Given the description of an element on the screen output the (x, y) to click on. 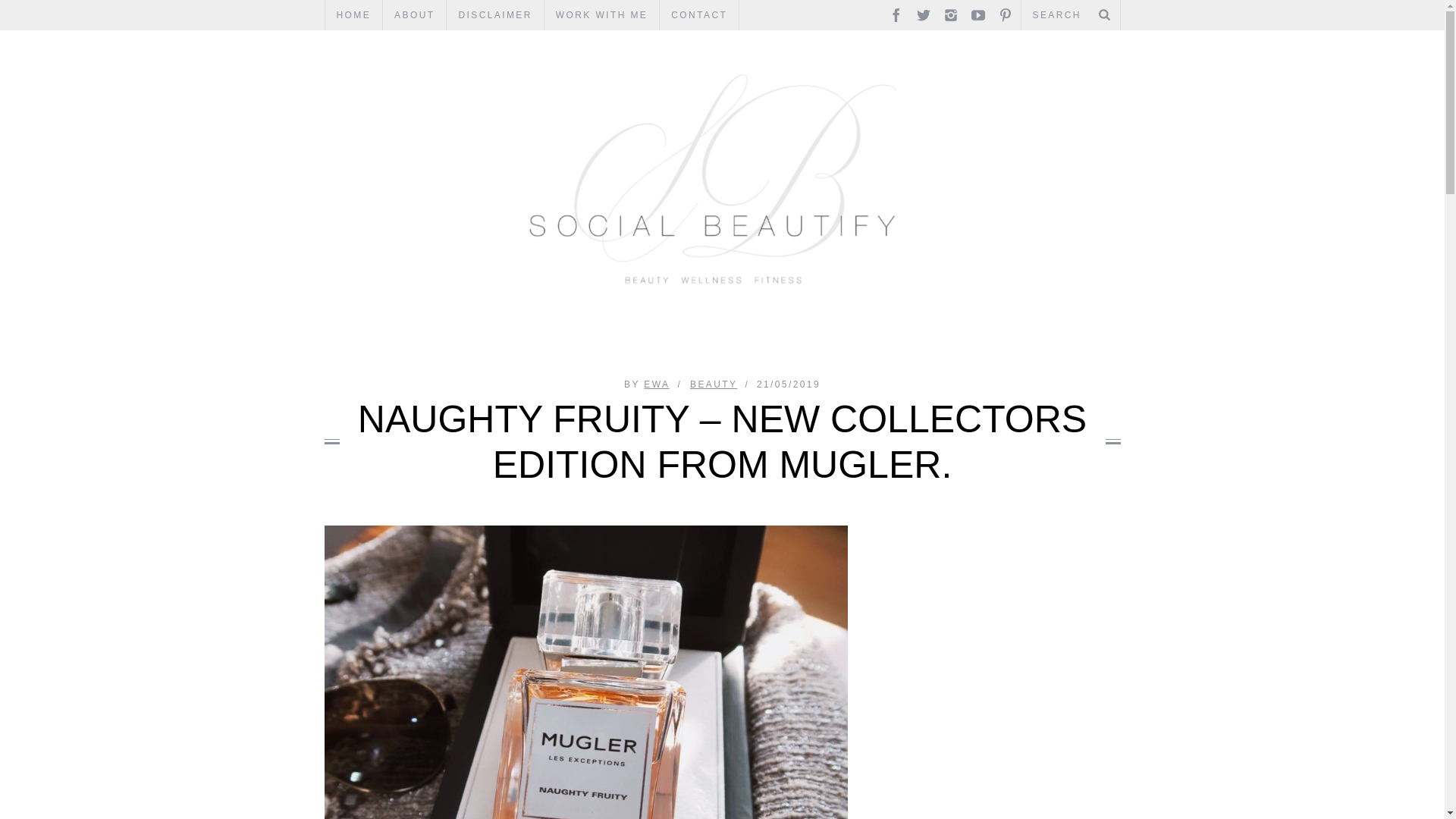
CONTACT (698, 14)
Social Beautify -  (722, 62)
DISCLAIMER (494, 14)
ABOUT (413, 14)
HOME (352, 14)
WORK WITH ME (601, 14)
Search (1070, 15)
